Given the description of an element on the screen output the (x, y) to click on. 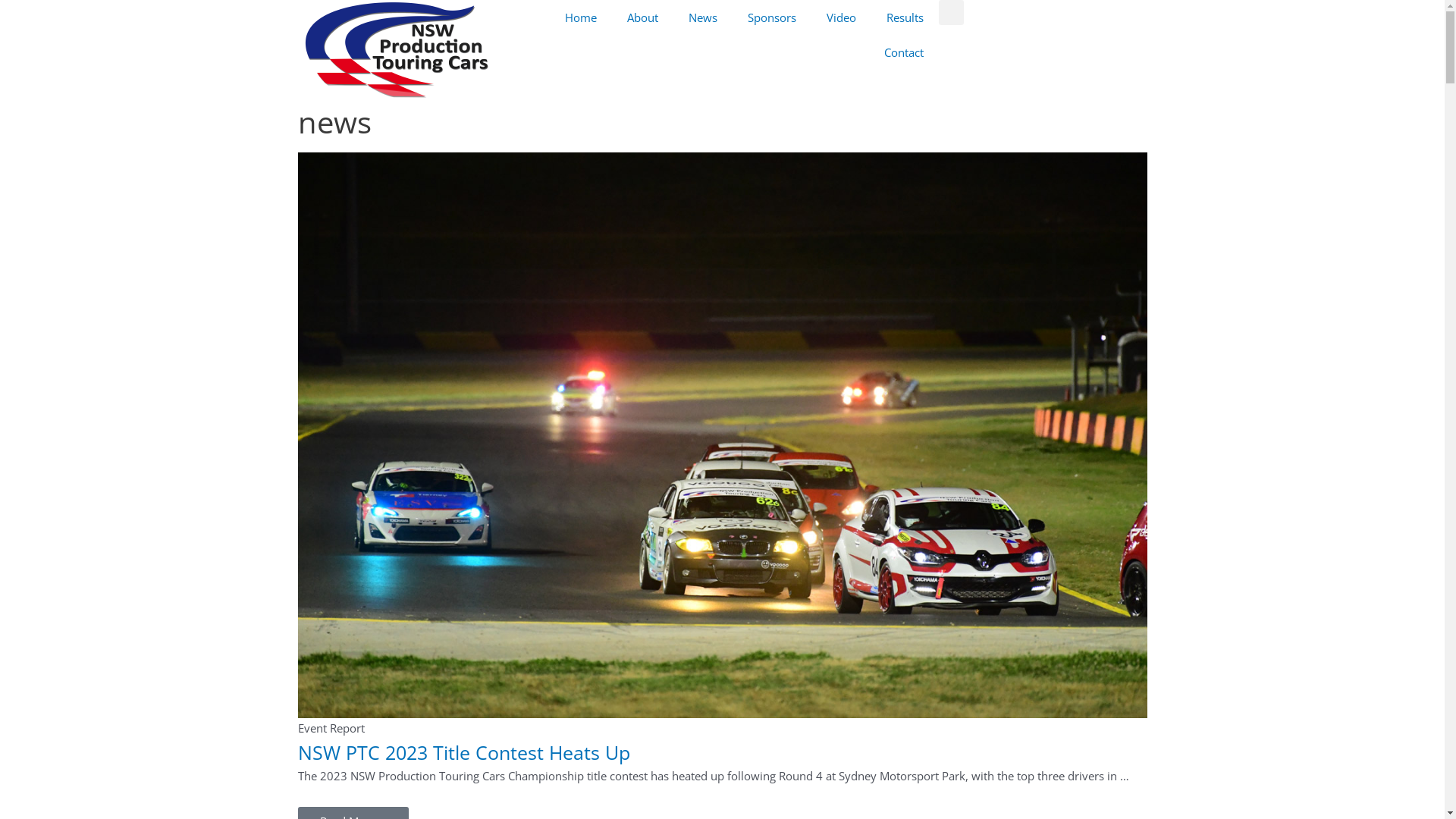
About Element type: text (641, 17)
News Element type: text (702, 17)
NSW PTC 2023 Title Contest Heats Up Element type: hover (721, 433)
Video Element type: text (841, 17)
Sponsors Element type: text (771, 17)
Contact Element type: text (903, 51)
Home Element type: text (580, 17)
Results Element type: text (904, 17)
NSW PTC 2023 Title Contest Heats Up Element type: text (463, 752)
